Given the description of an element on the screen output the (x, y) to click on. 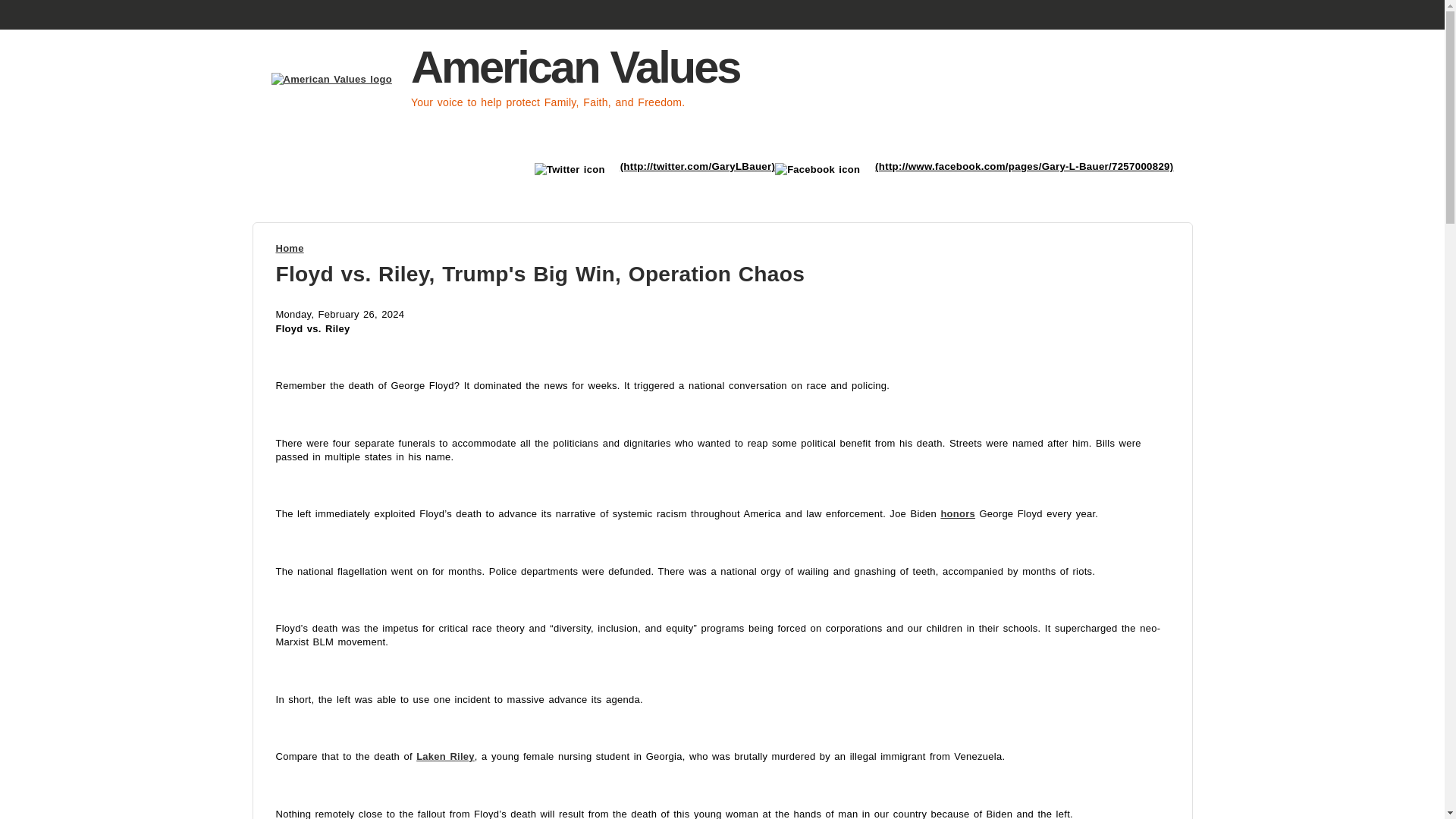
Home page (574, 66)
honors (957, 513)
Home page (334, 79)
Home (290, 247)
Laken Riley (445, 756)
Floyd vs. Riley, Trump's Big Win, Operation Chaos (540, 273)
American Values (574, 66)
Visit GaryLBauer on Twitter (698, 165)
